Given the description of an element on the screen output the (x, y) to click on. 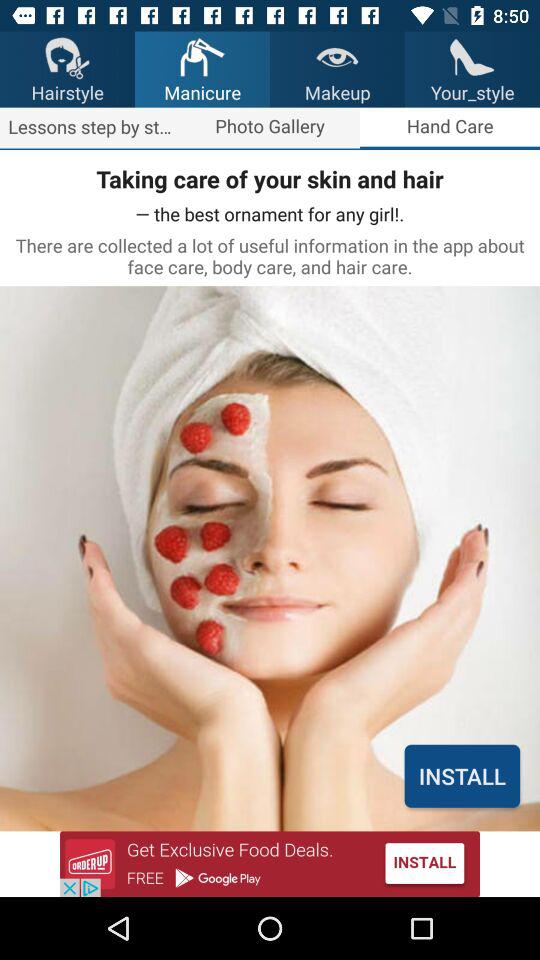
open advertisement (270, 864)
